Given the description of an element on the screen output the (x, y) to click on. 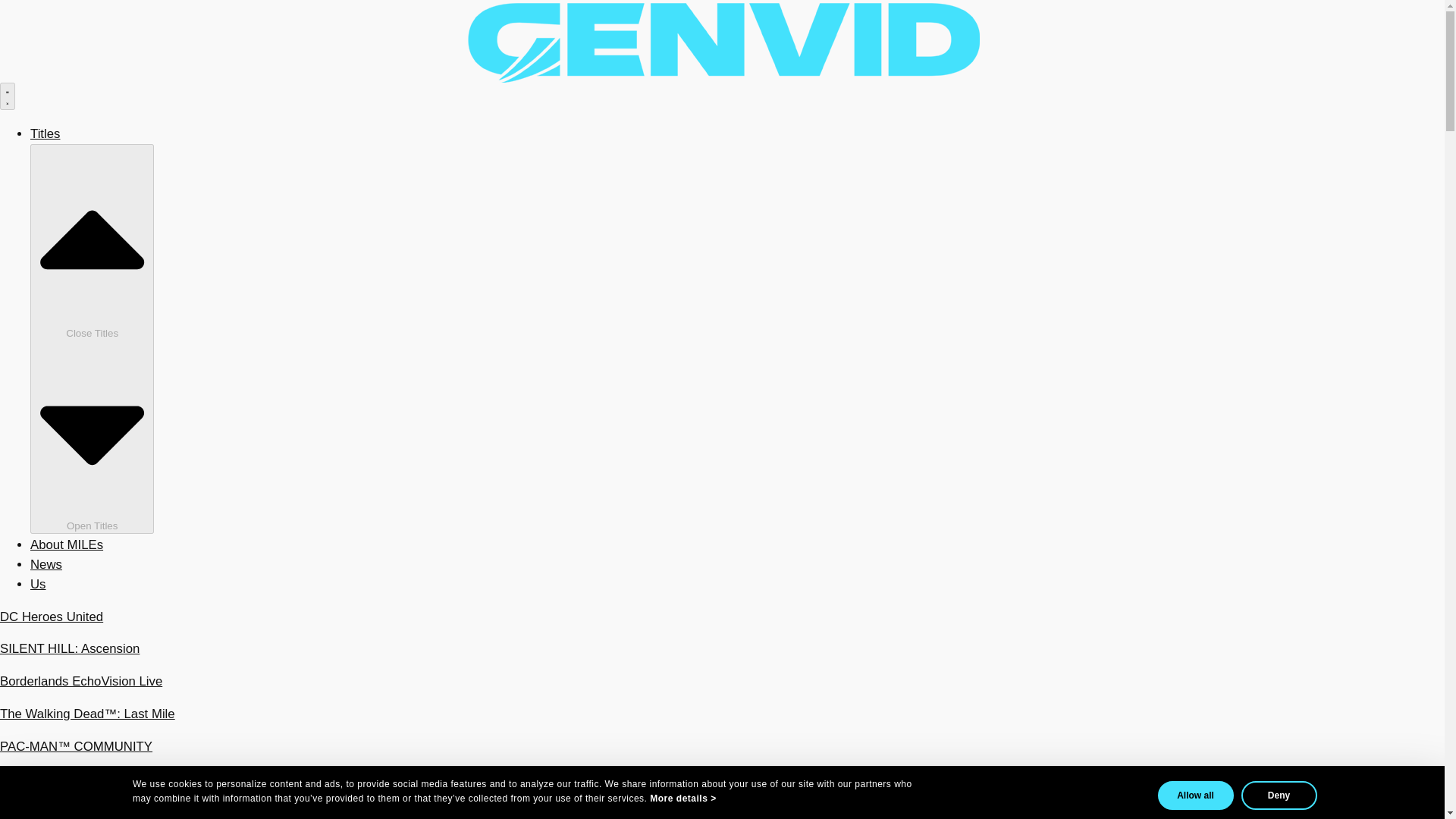
Allow all (1195, 795)
Deny (1278, 795)
